Given the description of an element on the screen output the (x, y) to click on. 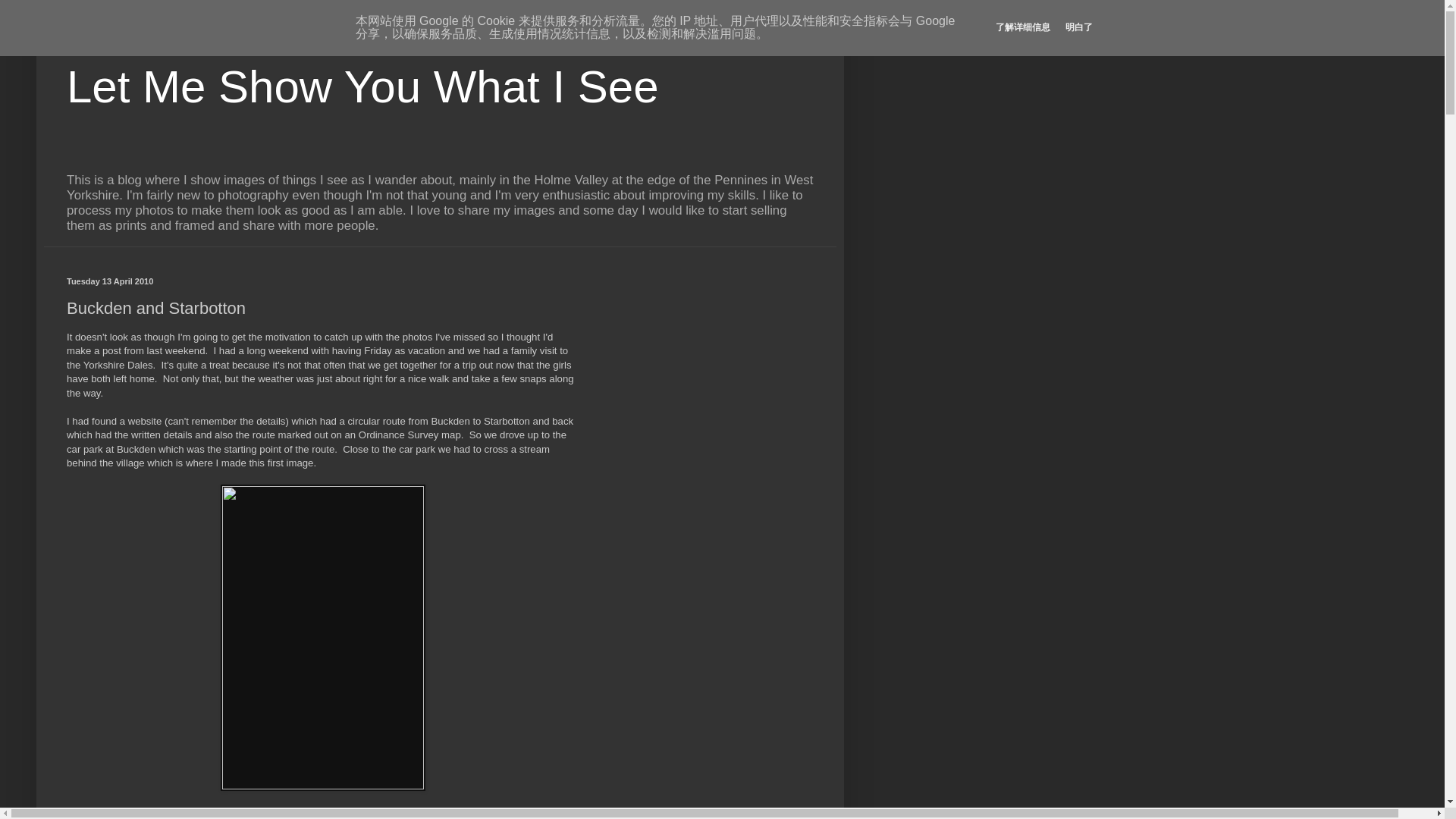
Let Me Show You What I See (362, 86)
